Given the description of an element on the screen output the (x, y) to click on. 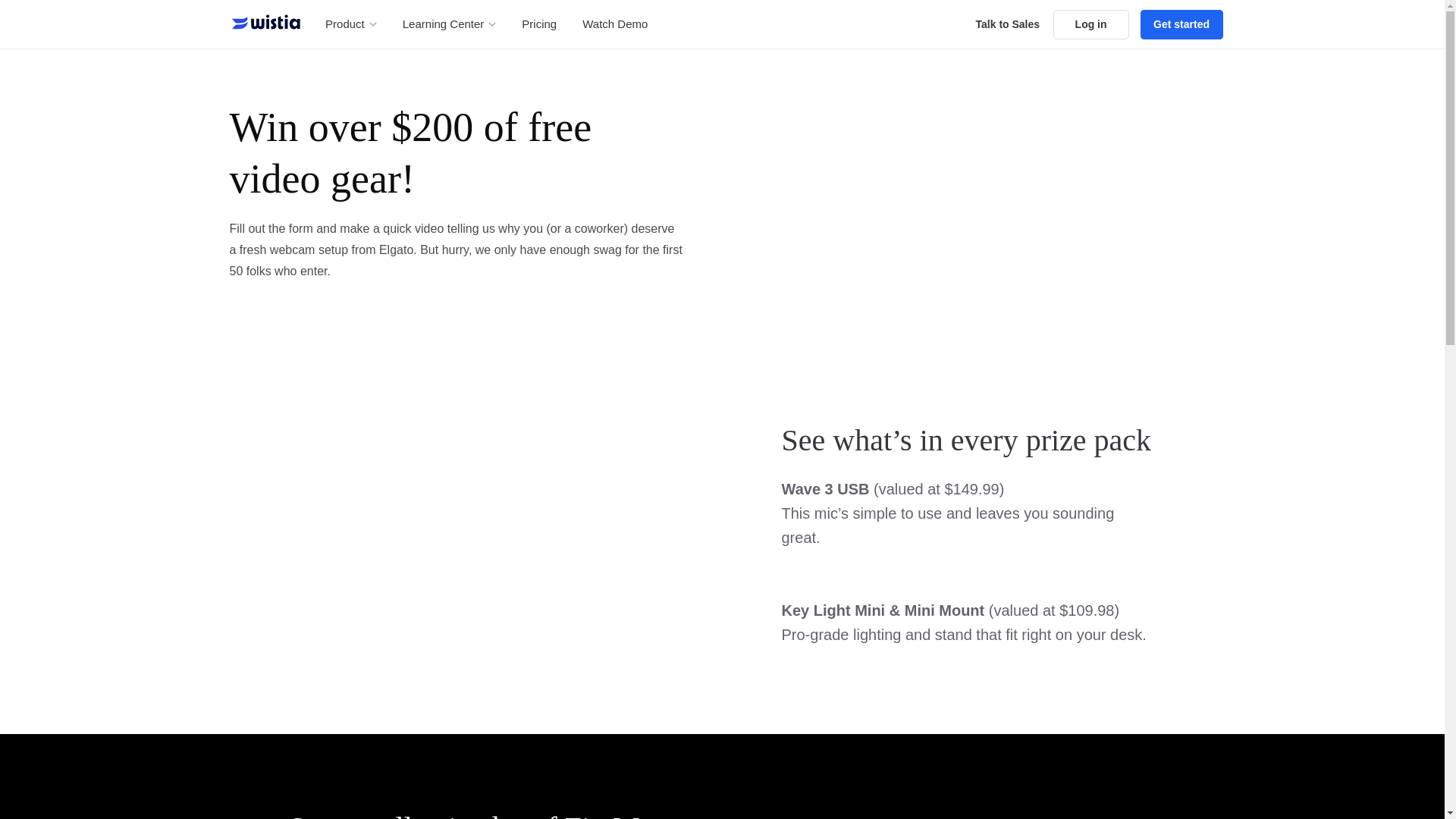
Watch Demo (614, 23)
Product (350, 23)
Learning Center (449, 23)
Log in (1090, 23)
Wistia (260, 24)
Talk to Sales (1007, 23)
Get started (1181, 23)
Pricing (538, 23)
Wistia (266, 20)
